Given the description of an element on the screen output the (x, y) to click on. 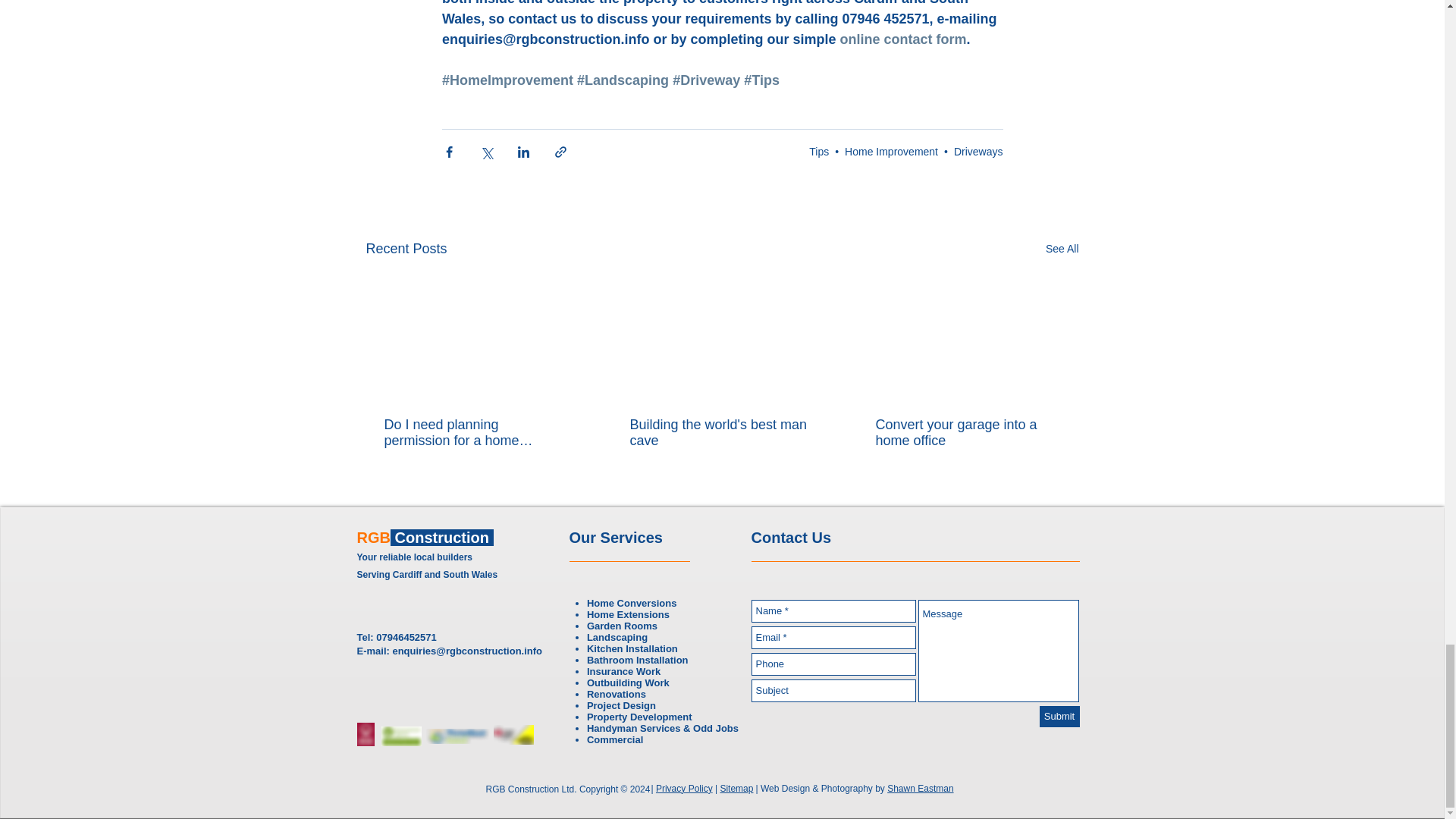
Three Best Rated (400, 736)
Three Best Rated (456, 735)
Three Best Rated (512, 734)
online contact form (903, 38)
